Given the description of an element on the screen output the (x, y) to click on. 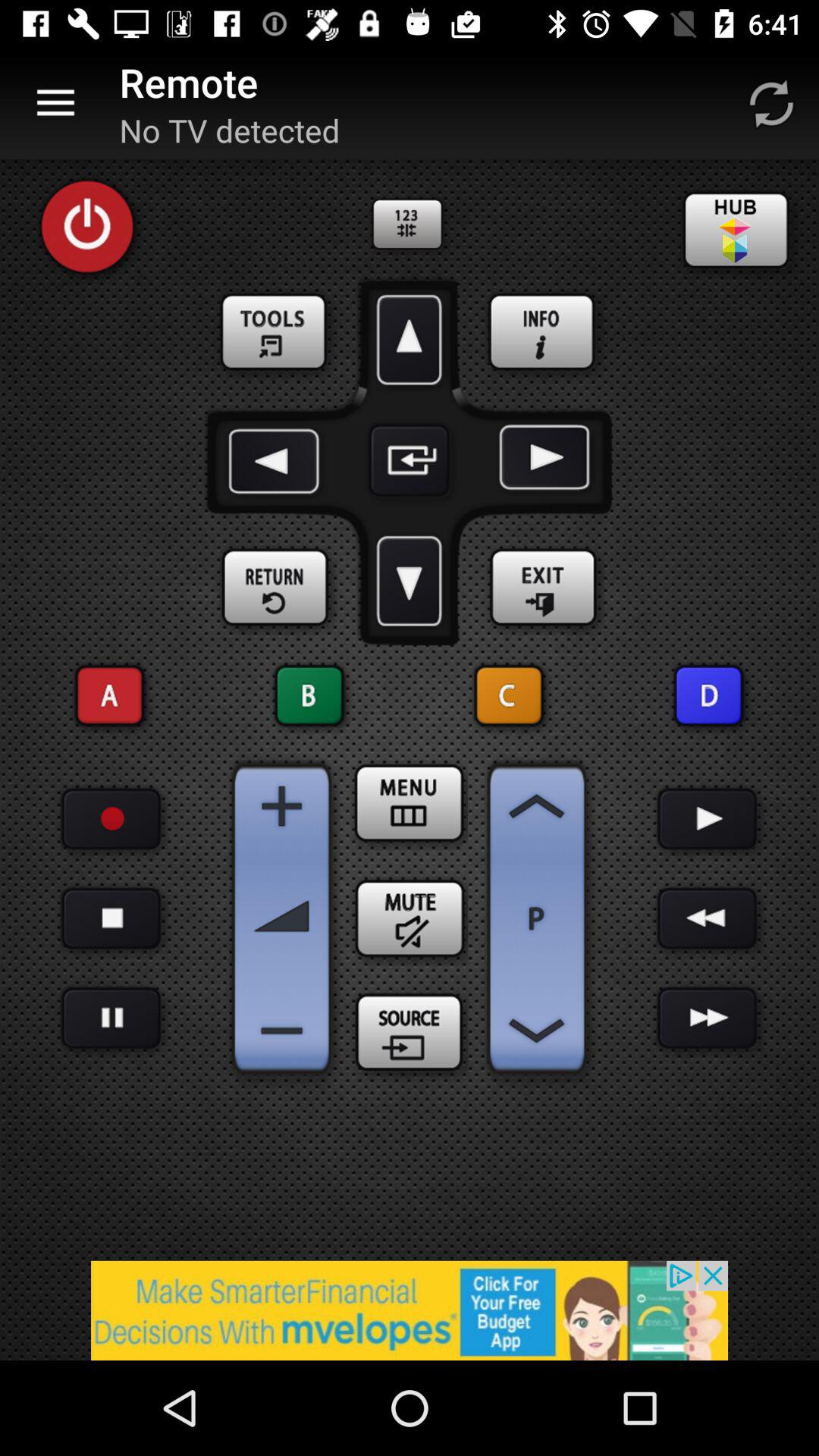
go to down button (409, 581)
